Given the description of an element on the screen output the (x, y) to click on. 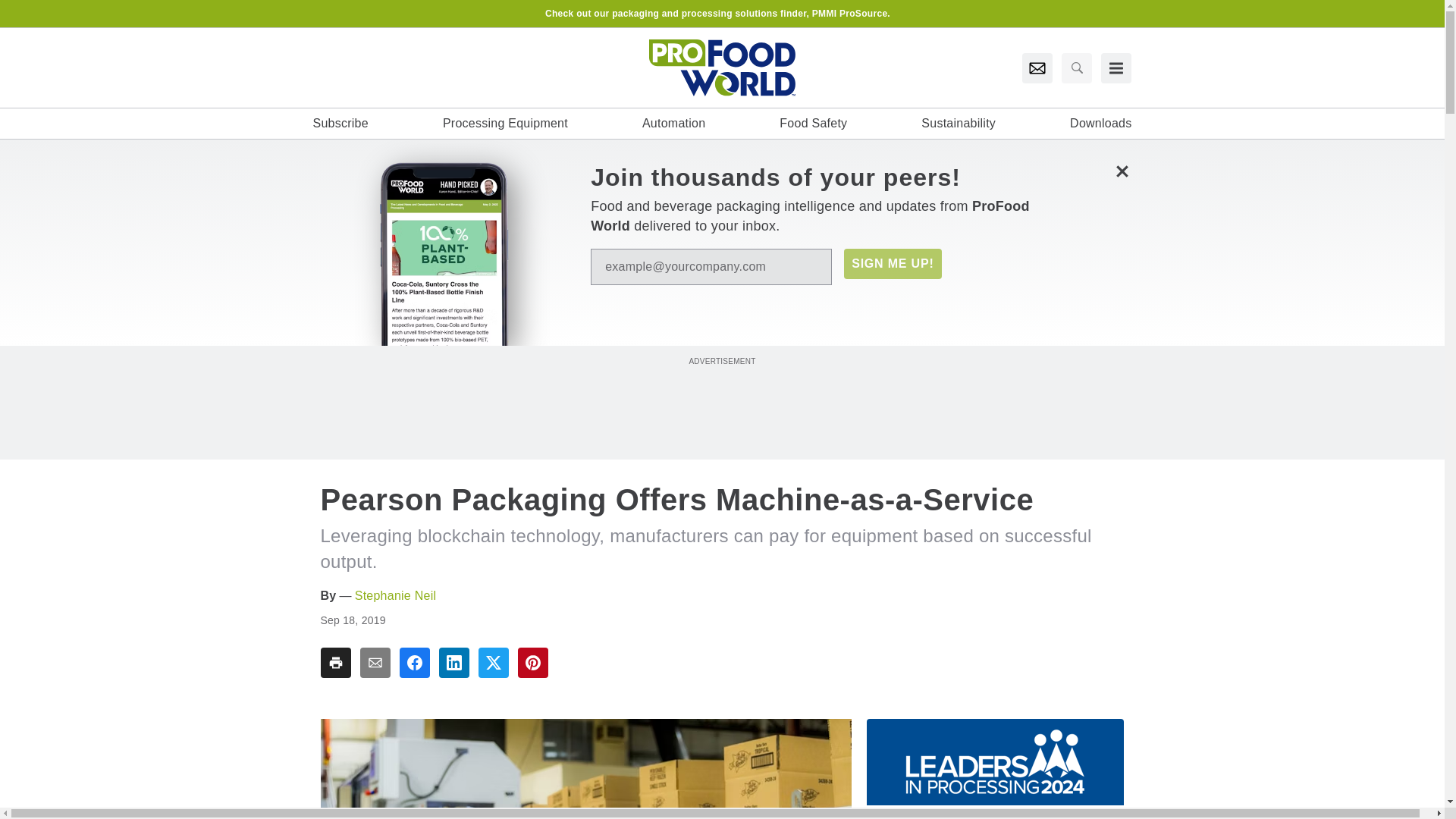
Share To linkedin (453, 662)
Share To email (374, 662)
Automation (673, 123)
SIGN ME UP! (892, 263)
Processing Equipment (504, 123)
Share To twitter (492, 662)
Downloads (1100, 123)
Sustainability (958, 123)
Share To pinterest (531, 662)
Share To print (335, 662)
Share To facebook (413, 662)
Food Safety (812, 123)
3rd party ad content (721, 402)
Subscribe (340, 123)
